Given the description of an element on the screen output the (x, y) to click on. 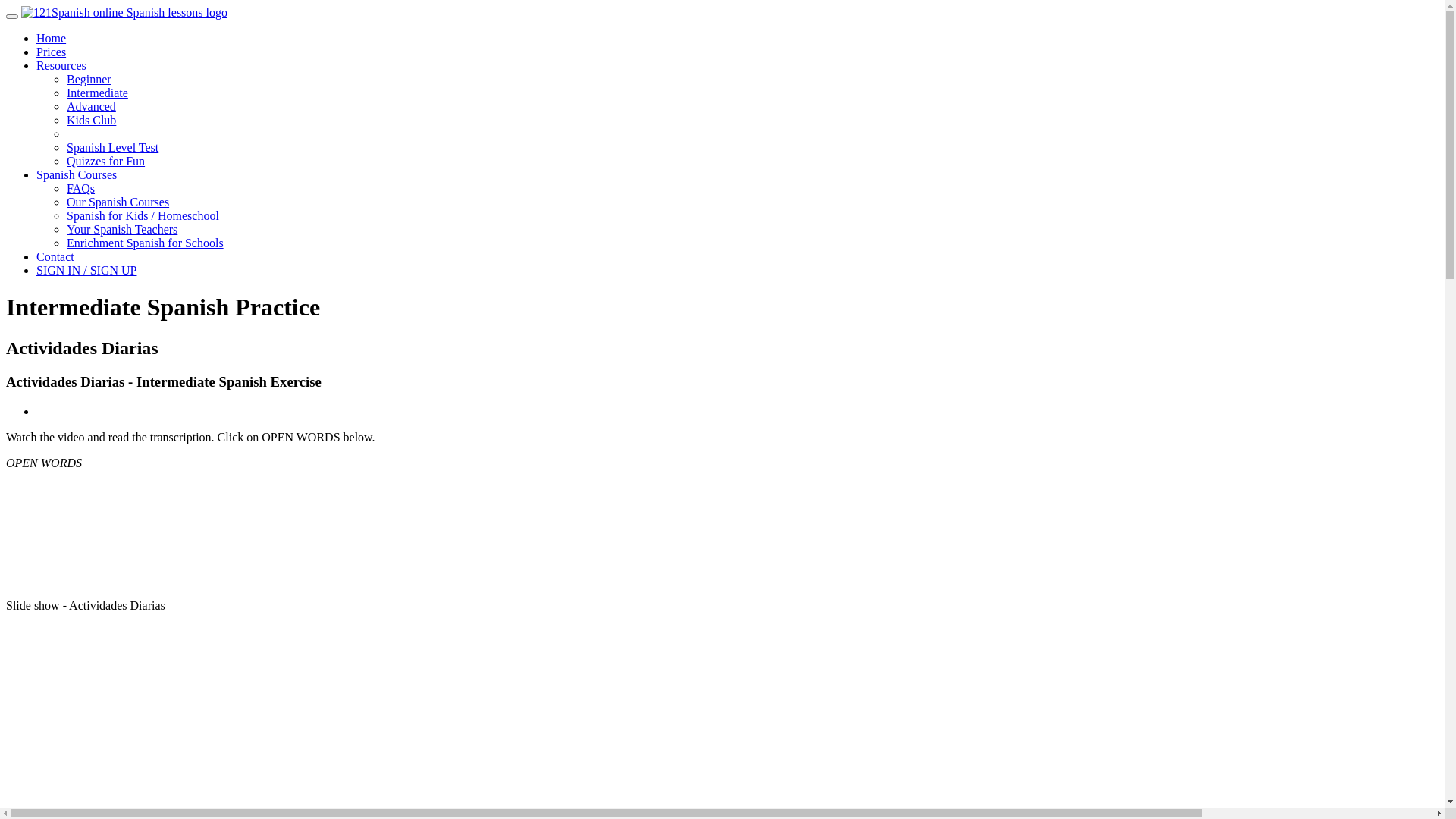
Your Spanish Teachers Element type: text (121, 228)
OPEN WORDS Element type: text (43, 462)
Contact Element type: text (55, 256)
Kids Club Element type: text (91, 119)
Home Element type: text (50, 37)
Spanish for Kids / Homeschool Element type: text (142, 215)
Resources Element type: text (61, 65)
SIGN IN / SIGN UP Element type: text (86, 269)
Spanish Courses Element type: text (76, 174)
Spanish Level Test Element type: text (112, 147)
FAQs Element type: text (80, 188)
Enrichment Spanish for Schools Element type: text (144, 242)
Advanced Element type: text (91, 106)
Prices Element type: text (50, 51)
Quizzes for Fun Element type: text (105, 160)
Intermediate Element type: text (97, 92)
Beginner Element type: text (88, 78)
Our Spanish Courses Element type: text (117, 201)
